Given the description of an element on the screen output the (x, y) to click on. 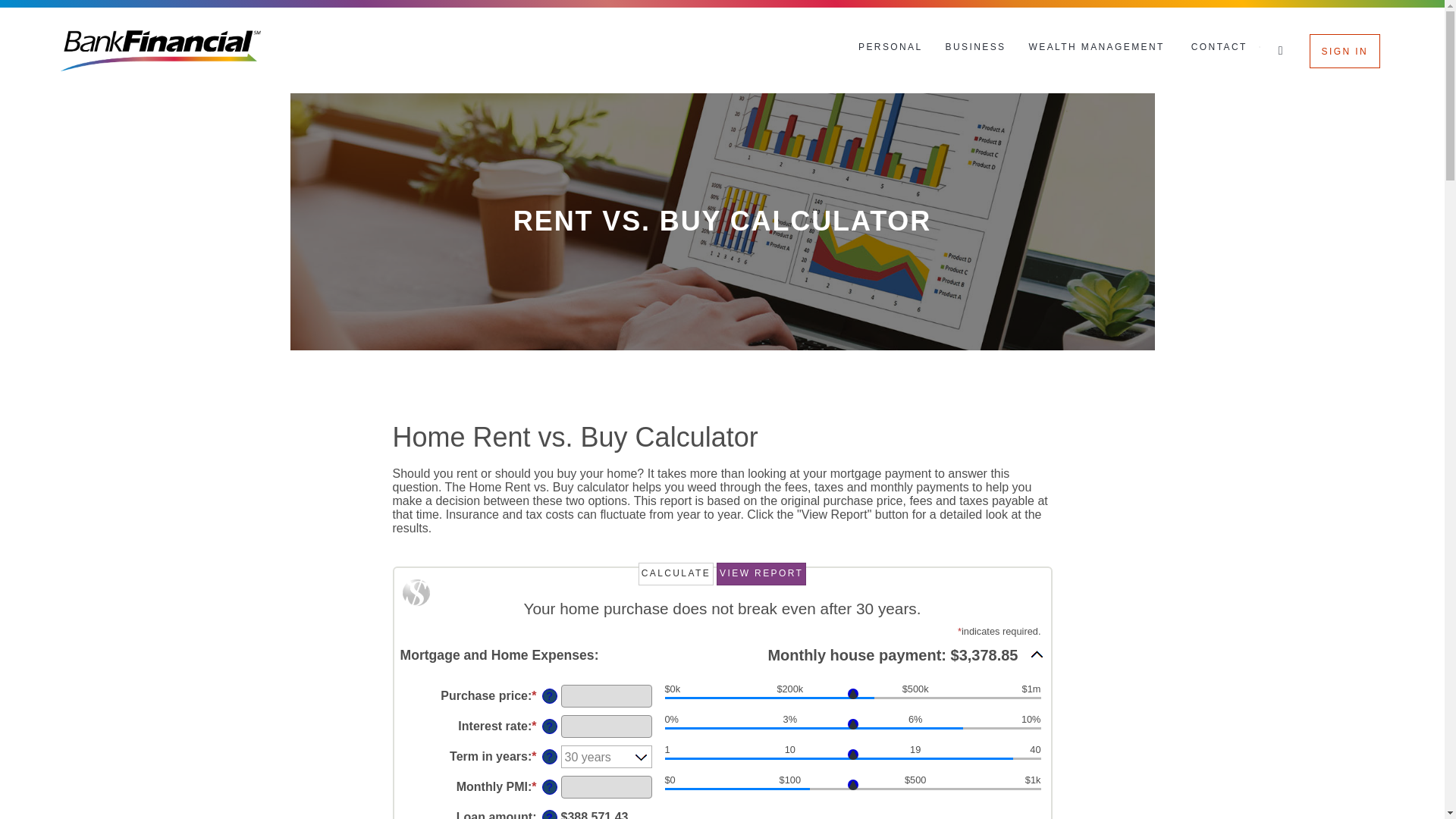
50 (852, 730)
Term in years slider (852, 760)
View Report (761, 573)
50 (852, 699)
50 (852, 760)
Calculate (676, 573)
Interest rate slider (852, 730)
50 (852, 790)
Monthly PMI slider (852, 790)
BankFinancial, Orland Park, IL (160, 49)
Purchase price slider (852, 699)
